Given the description of an element on the screen output the (x, y) to click on. 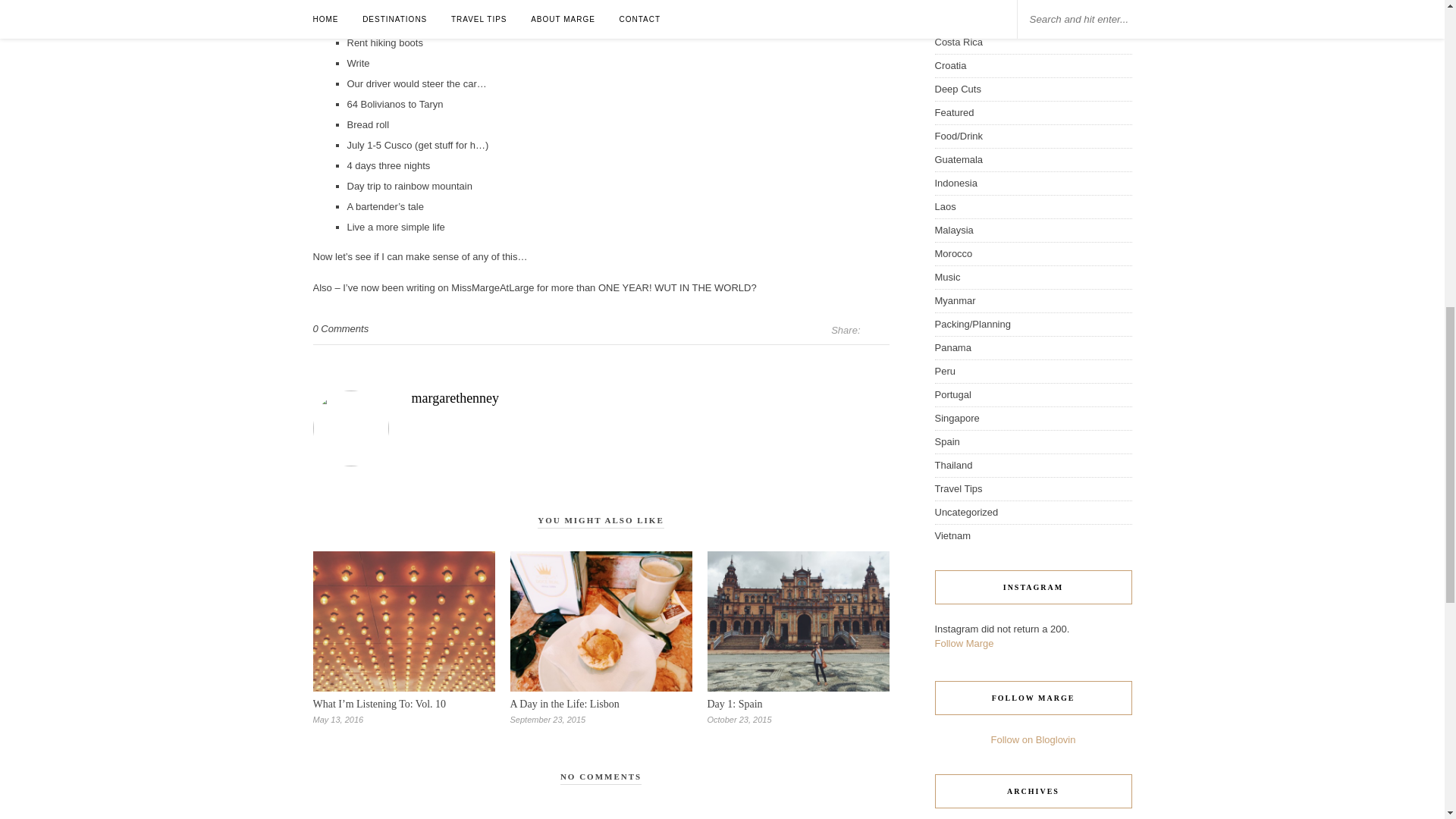
cambodia (956, 0)
Colombia (954, 18)
Posts by margarethenney (600, 398)
music (946, 276)
Laos (944, 206)
Myanmar (954, 300)
indonesia (955, 183)
malaysia (953, 229)
Guatemala (958, 159)
Portugal (952, 394)
Peru (944, 370)
Panama (952, 347)
